Given the description of an element on the screen output the (x, y) to click on. 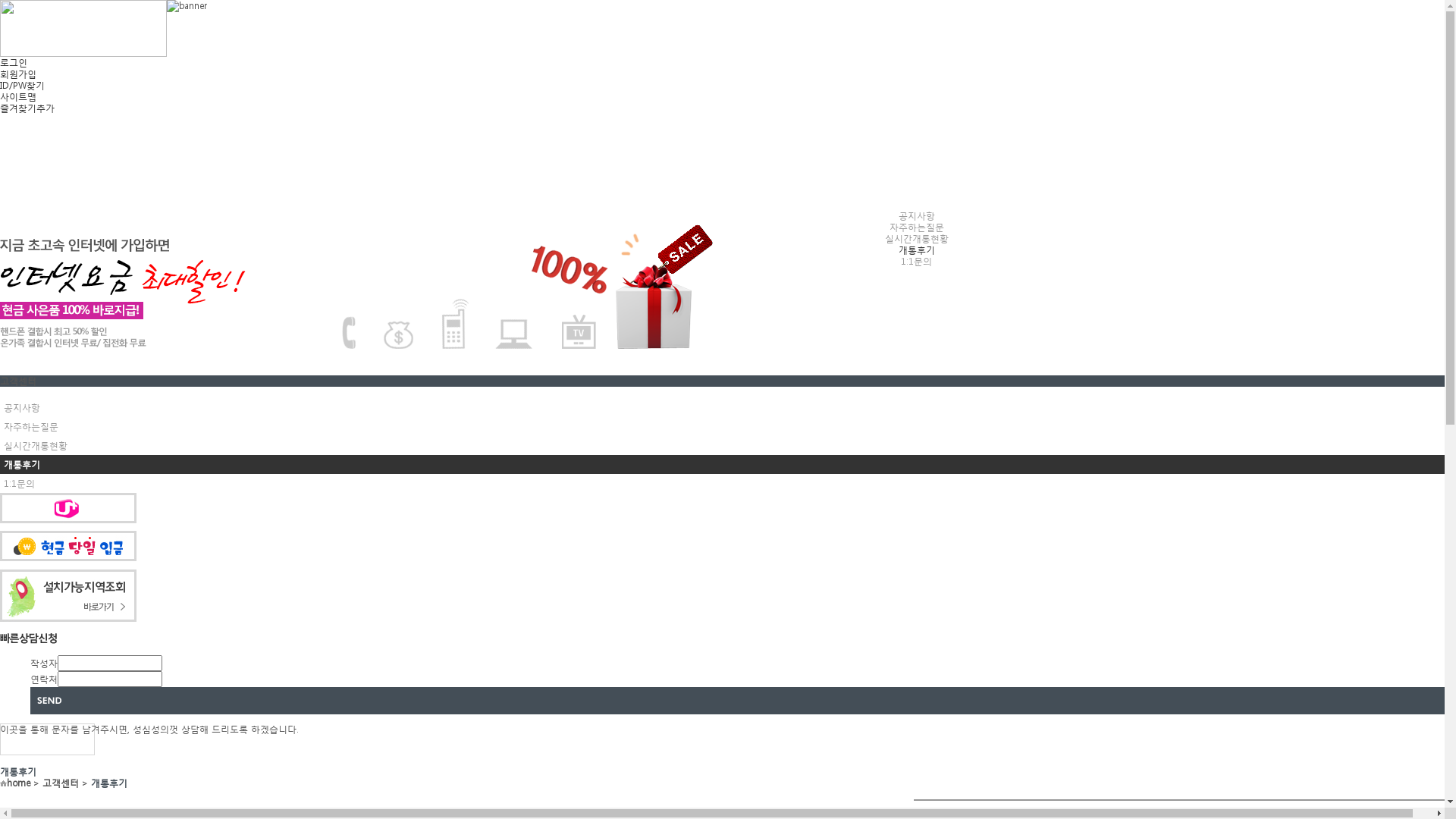
TV Element type: text (747, 137)
